Given the description of an element on the screen output the (x, y) to click on. 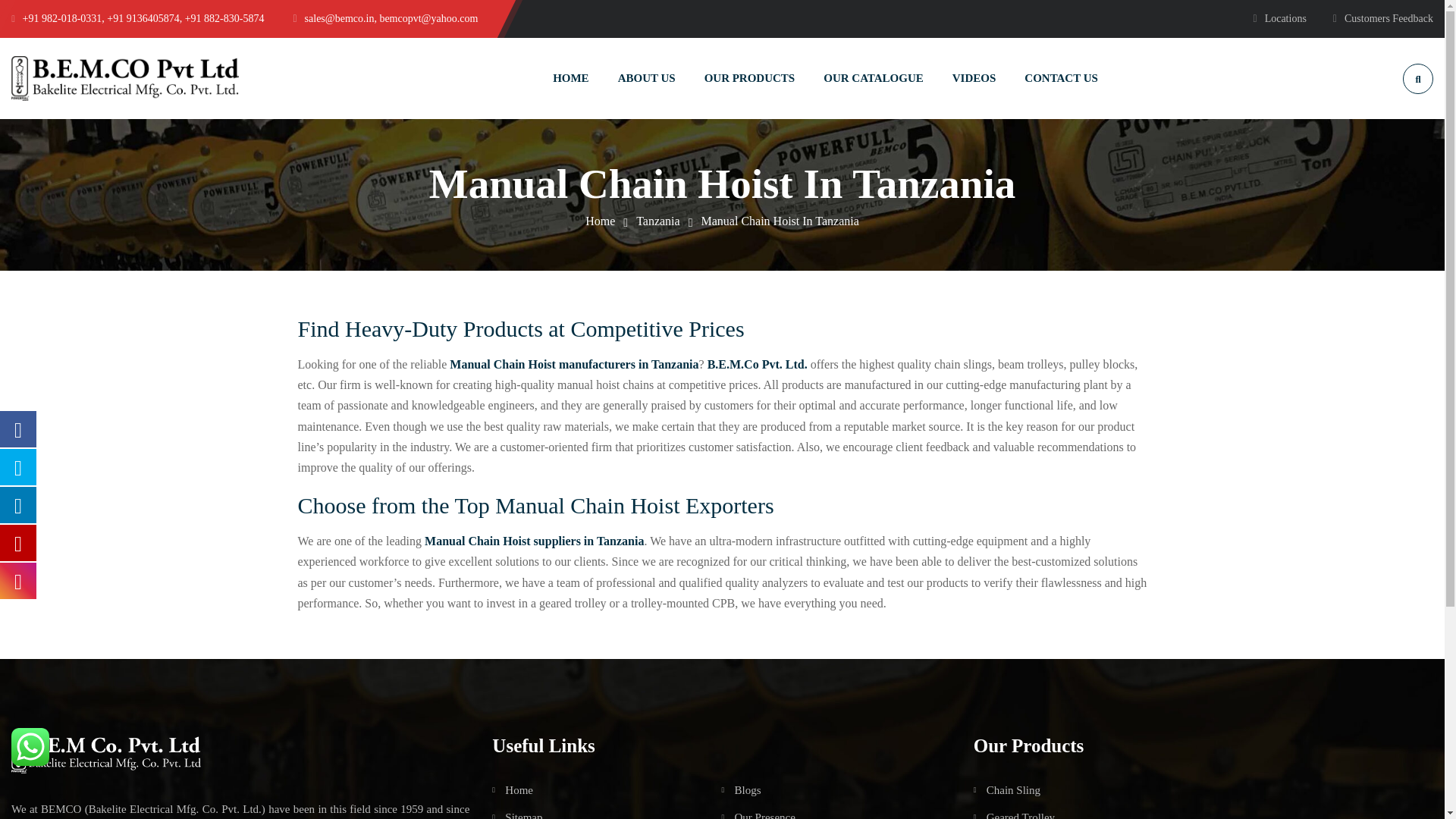
CONTACT US (1061, 77)
OUR CATALOGUE (873, 77)
OUR PRODUCTS (749, 77)
Industrial Chain Pulley Blocks (124, 78)
ABOUT US (646, 77)
VIDEOS (973, 77)
Locations (1279, 18)
HOME (571, 77)
Customers Feedback (1382, 18)
Industrial Chain Pulley Blocks (599, 220)
Tanzania (657, 220)
